Given the description of an element on the screen output the (x, y) to click on. 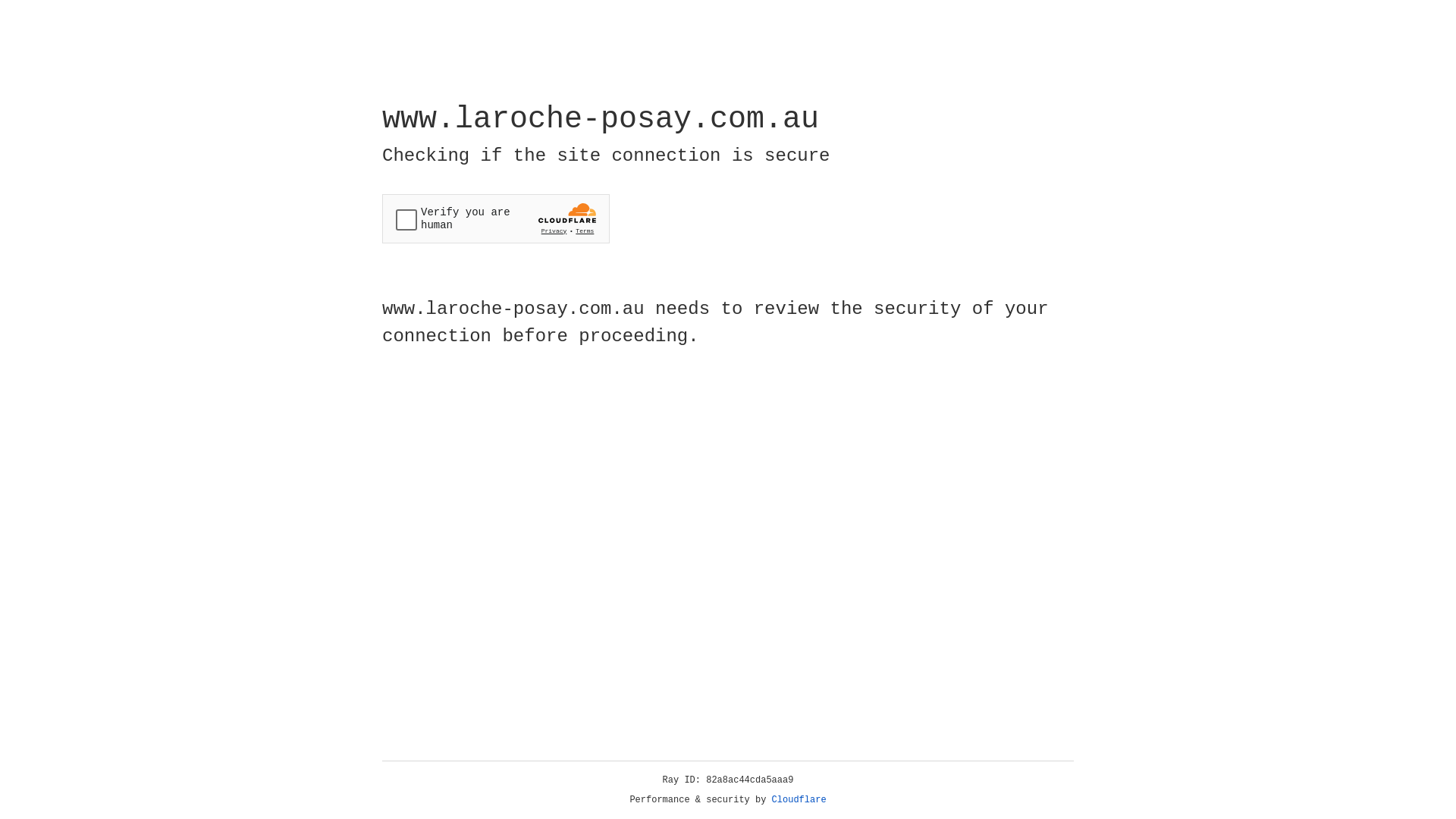
Cloudflare Element type: text (798, 799)
Widget containing a Cloudflare security challenge Element type: hover (495, 218)
